Given the description of an element on the screen output the (x, y) to click on. 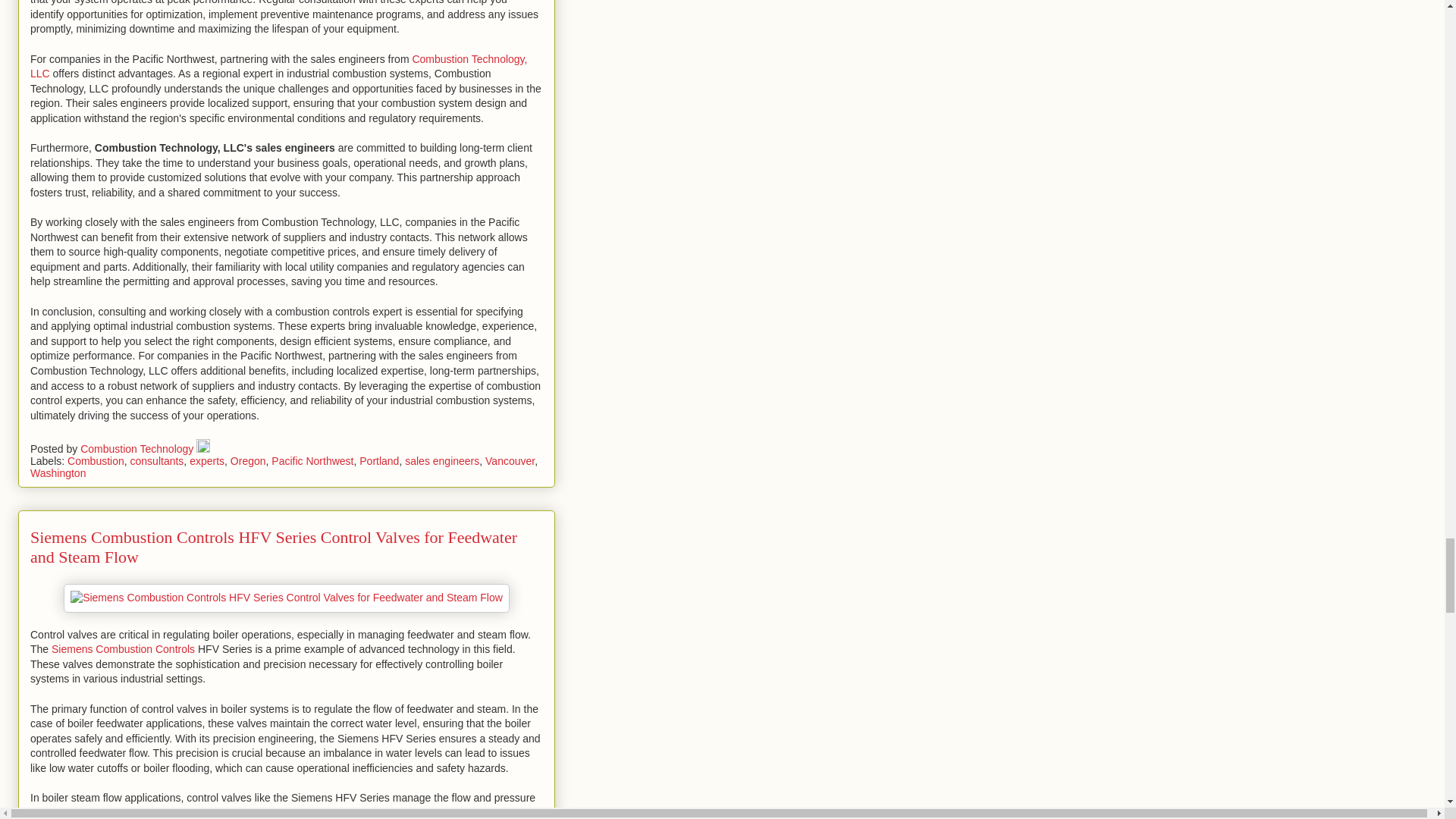
Edit Post (202, 449)
author profile (138, 449)
